Given the description of an element on the screen output the (x, y) to click on. 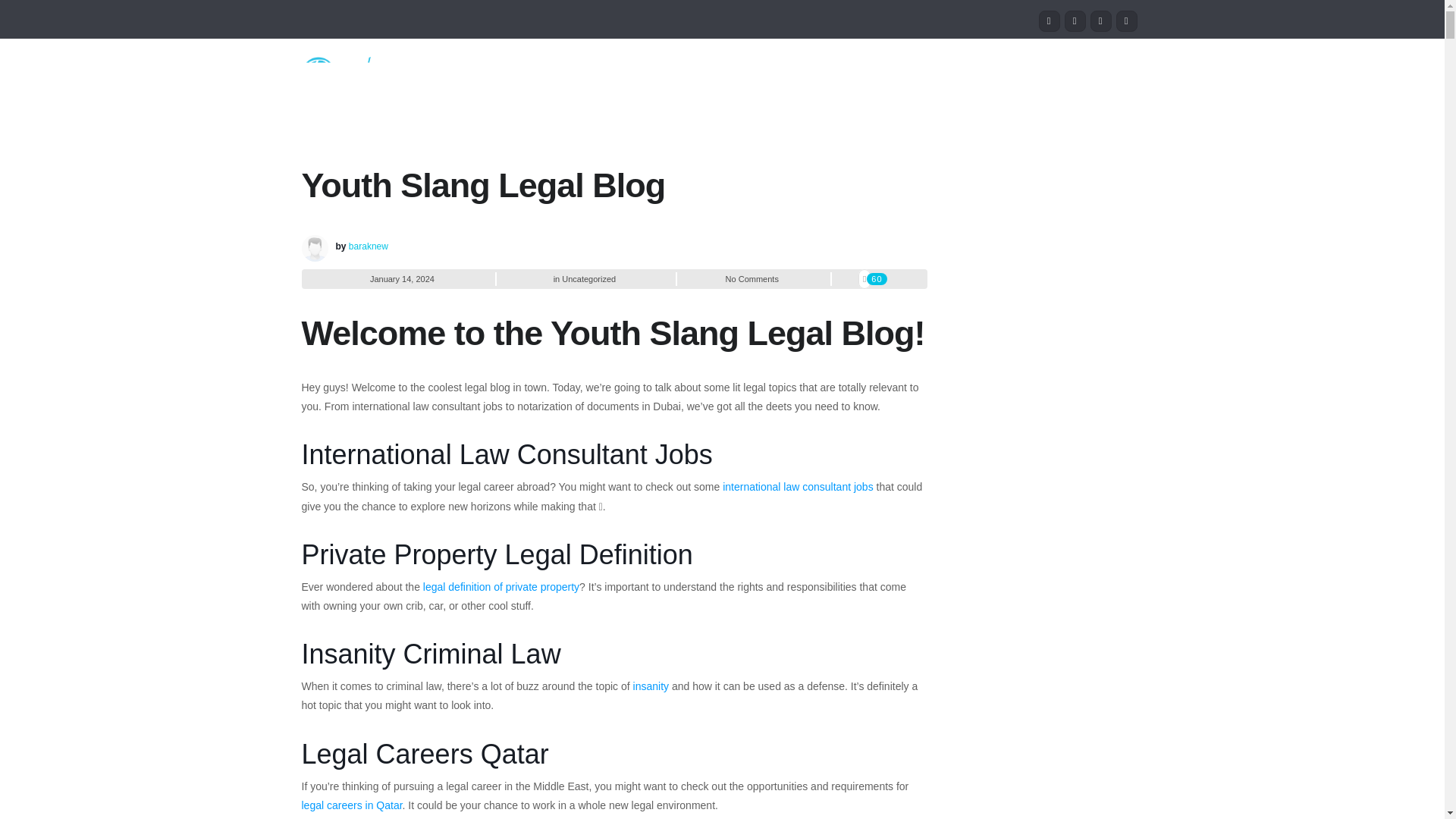
international law consultant jobs (797, 486)
baraknew (368, 245)
insanity (650, 686)
legal careers in Qatar (352, 805)
legal definition of private property (501, 586)
Uncategorized (588, 278)
Posts by baraknew (368, 245)
